Given the description of an element on the screen output the (x, y) to click on. 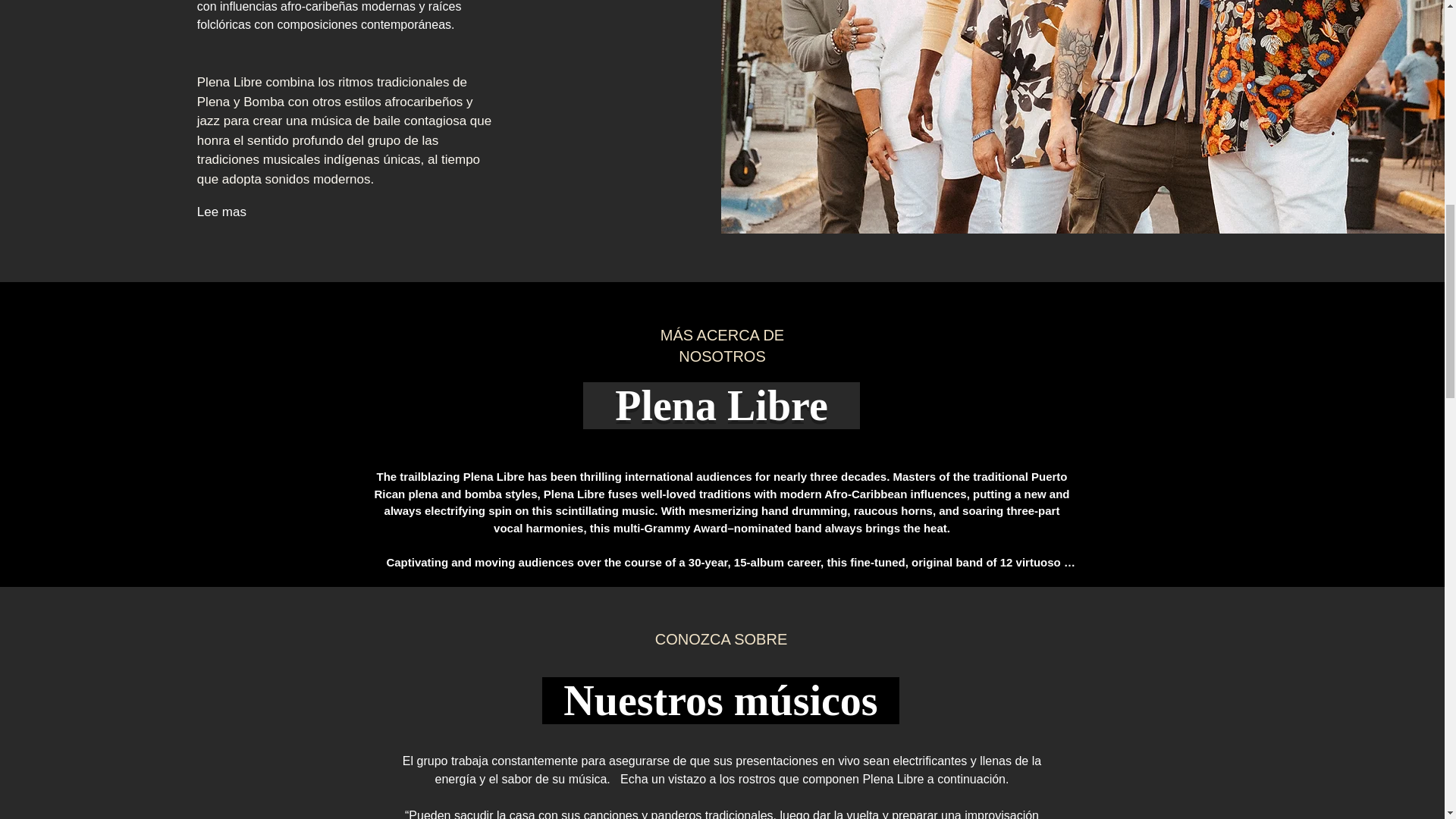
Lee mas (250, 212)
